Given the description of an element on the screen output the (x, y) to click on. 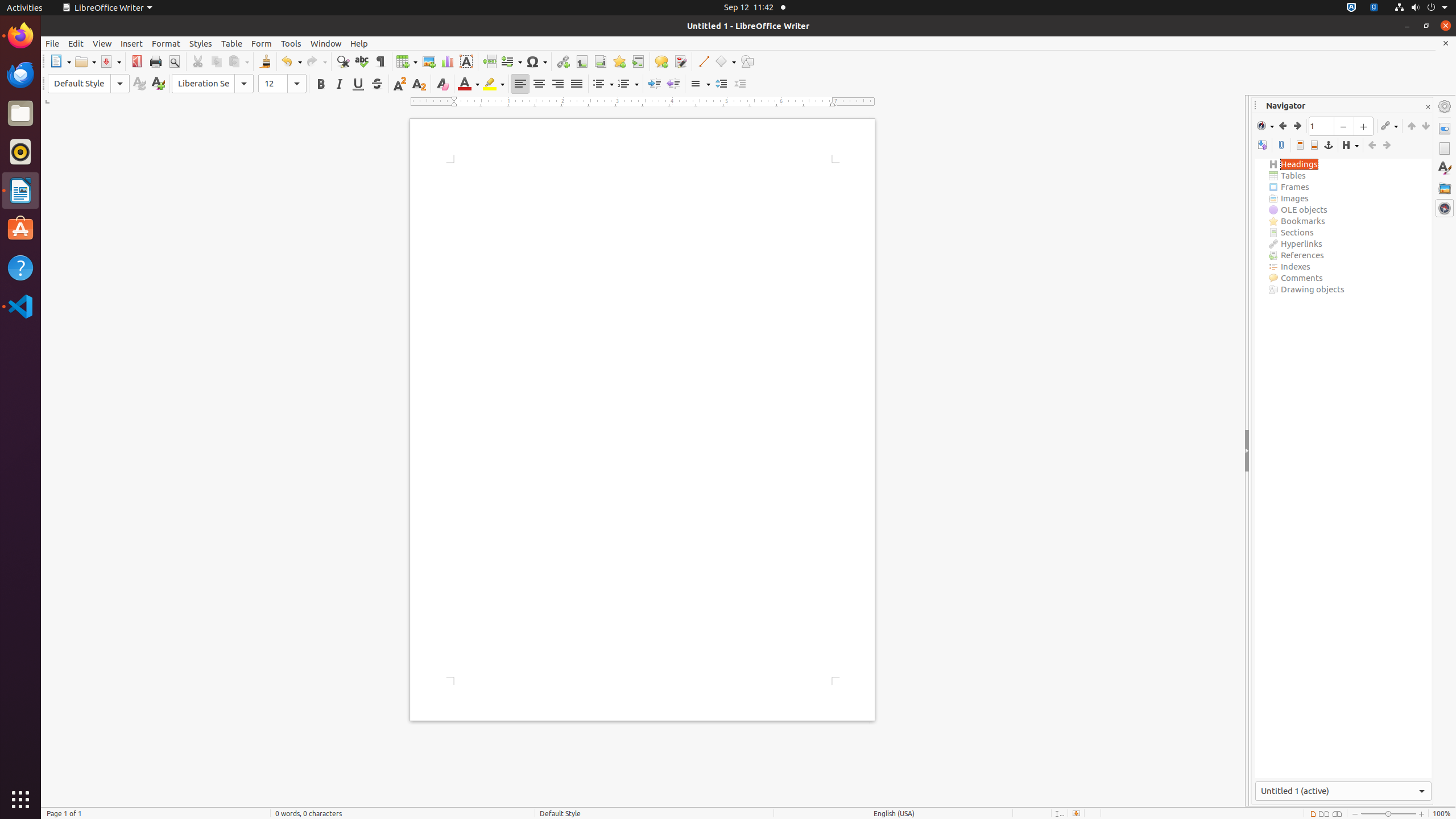
Text Box Element type: push-button (465, 61)
org.kde.StatusNotifierItem-14077-1 Element type: menu (1373, 7)
Paragraph Style Element type: combo-box (88, 83)
Decrease Element type: push-button (739, 83)
Print Preview Element type: toggle-button (173, 61)
